Given the description of an element on the screen output the (x, y) to click on. 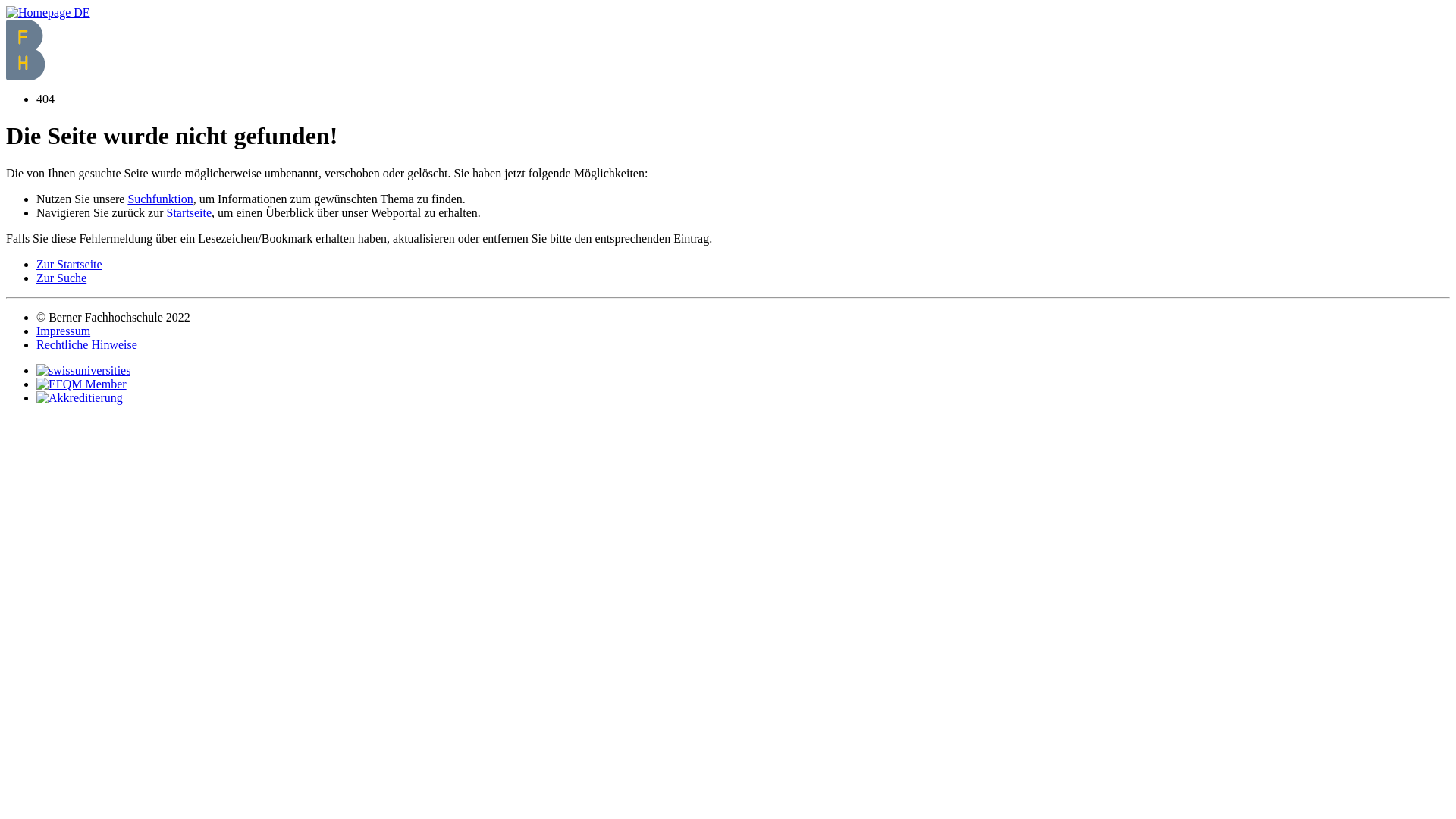
Suchfunktion Element type: text (159, 198)
swissuniversities Element type: hover (83, 370)
Impressum Element type: text (63, 330)
Zur Suche Element type: text (61, 277)
Startseite Element type: text (188, 212)
Rechtliche Hinweise Element type: text (86, 344)
Zur Startseite Element type: text (69, 263)
EFQM Member Element type: hover (81, 383)
Akkreditierung Element type: hover (79, 397)
